Given the description of an element on the screen output the (x, y) to click on. 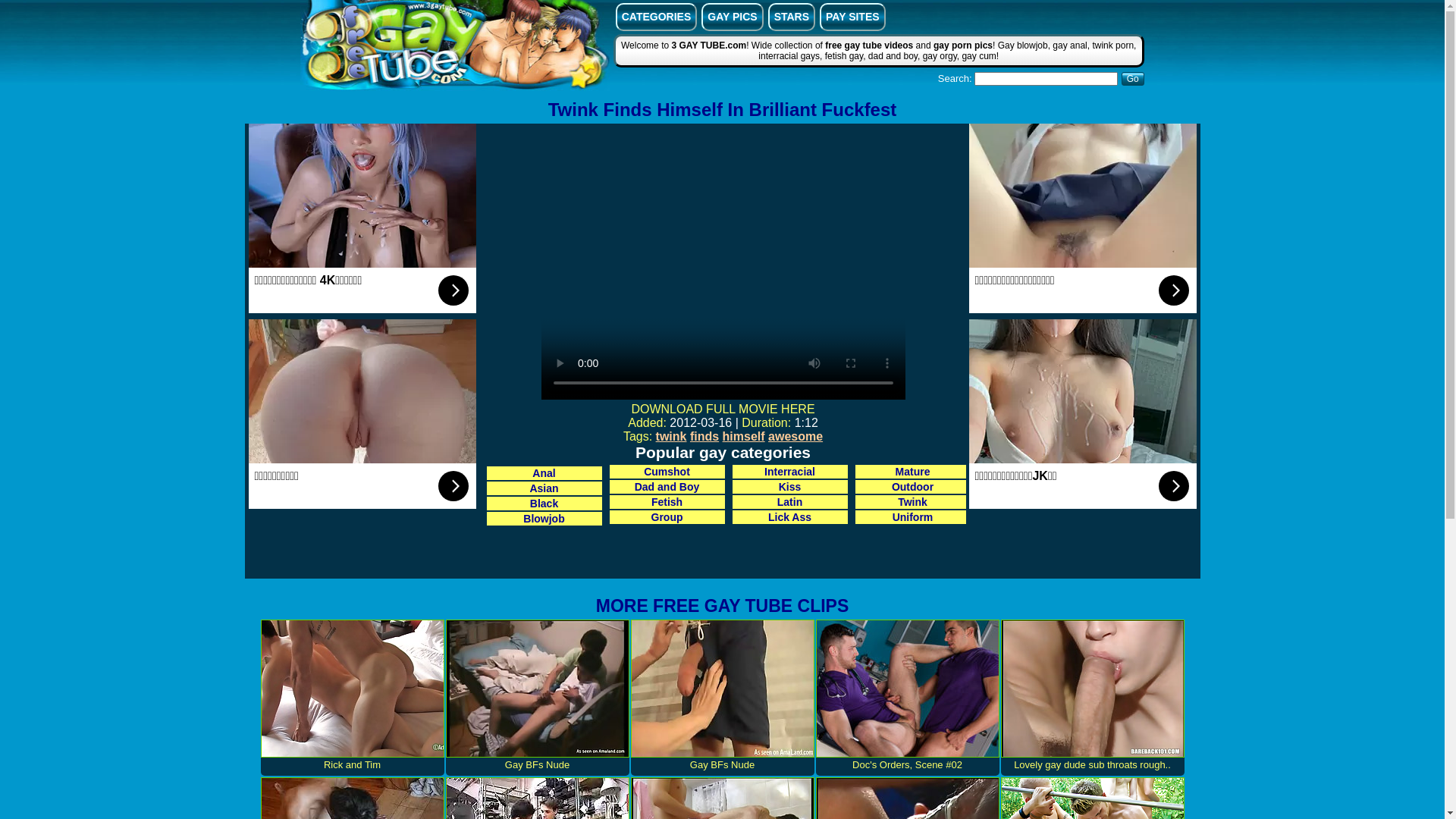
Latin Element type: text (789, 501)
Doc's Orders, Scene #02 Element type: text (907, 697)
Black Element type: text (544, 503)
GAY PICS Element type: text (731, 17)
finds Element type: text (704, 435)
Blowjob Element type: text (544, 518)
Interracial Element type: text (789, 471)
Group Element type: text (666, 517)
awesome Element type: text (795, 435)
Twink Element type: text (912, 501)
himself Element type: text (743, 435)
Go Element type: text (1132, 78)
Gay BFs Nude Element type: text (722, 697)
Lovely gay dude sub throats rough.. Element type: text (1092, 697)
Uniform Element type: text (912, 517)
Rick and Tim Element type: text (352, 697)
Free Gay Tube Element type: hover (454, 47)
Gay BFs Nude Element type: text (537, 697)
Fetish Element type: text (666, 501)
DOWNLOAD FULL MOVIE HERE Element type: text (722, 408)
Anal Element type: text (544, 473)
PAY SITES Element type: text (852, 17)
CATEGORIES Element type: text (656, 17)
Cumshot Element type: text (666, 471)
STARS Element type: text (791, 17)
Twink finds himself in brilliant fuckfest Element type: hover (723, 262)
Asian Element type: text (544, 488)
Outdoor Element type: text (912, 486)
Mature Element type: text (912, 471)
Kiss Element type: text (789, 486)
Lick Ass Element type: text (789, 517)
twink Element type: text (671, 435)
Dad and Boy Element type: text (666, 486)
